Given the description of an element on the screen output the (x, y) to click on. 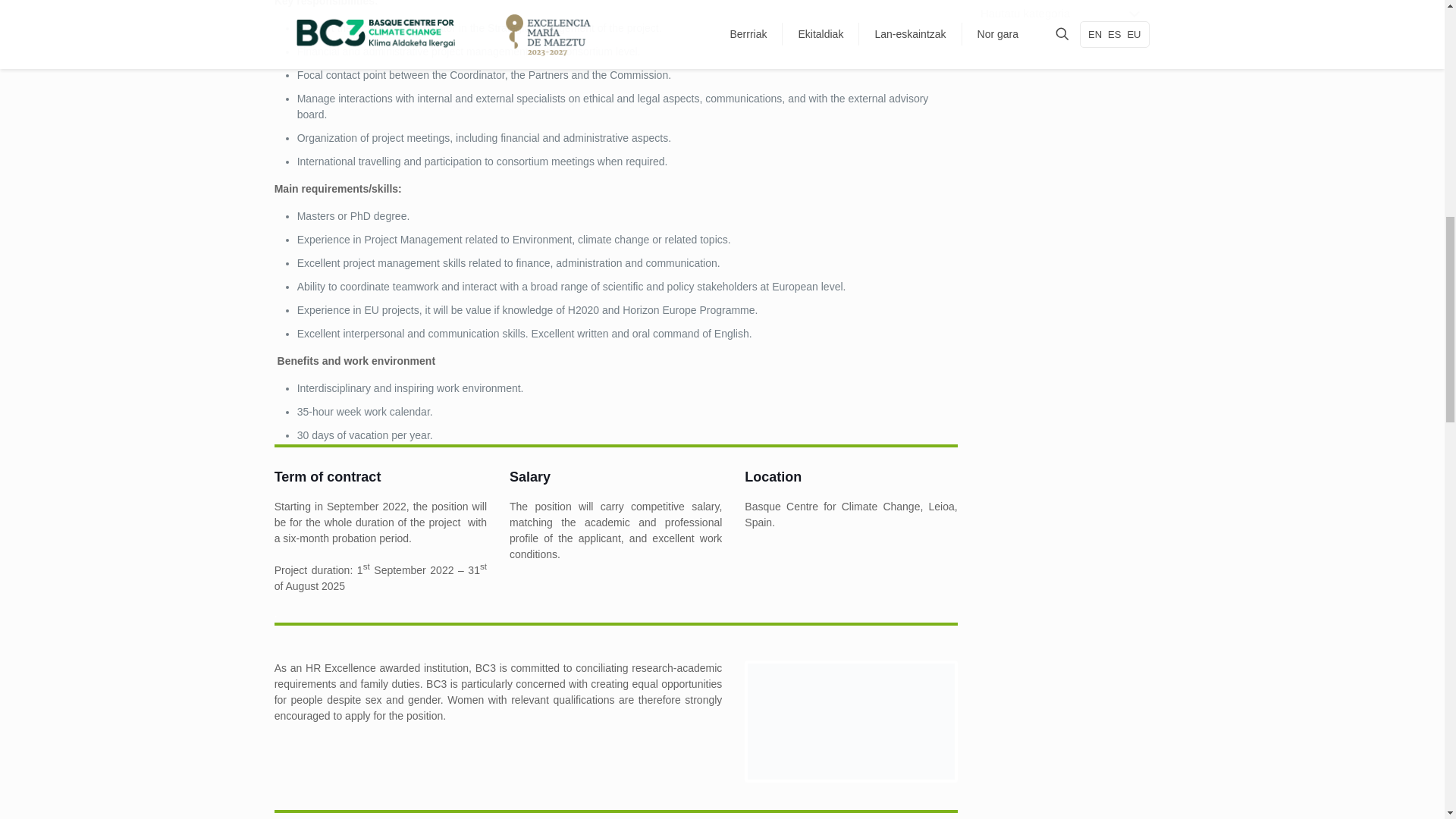
HR logo (850, 721)
